Given the description of an element on the screen output the (x, y) to click on. 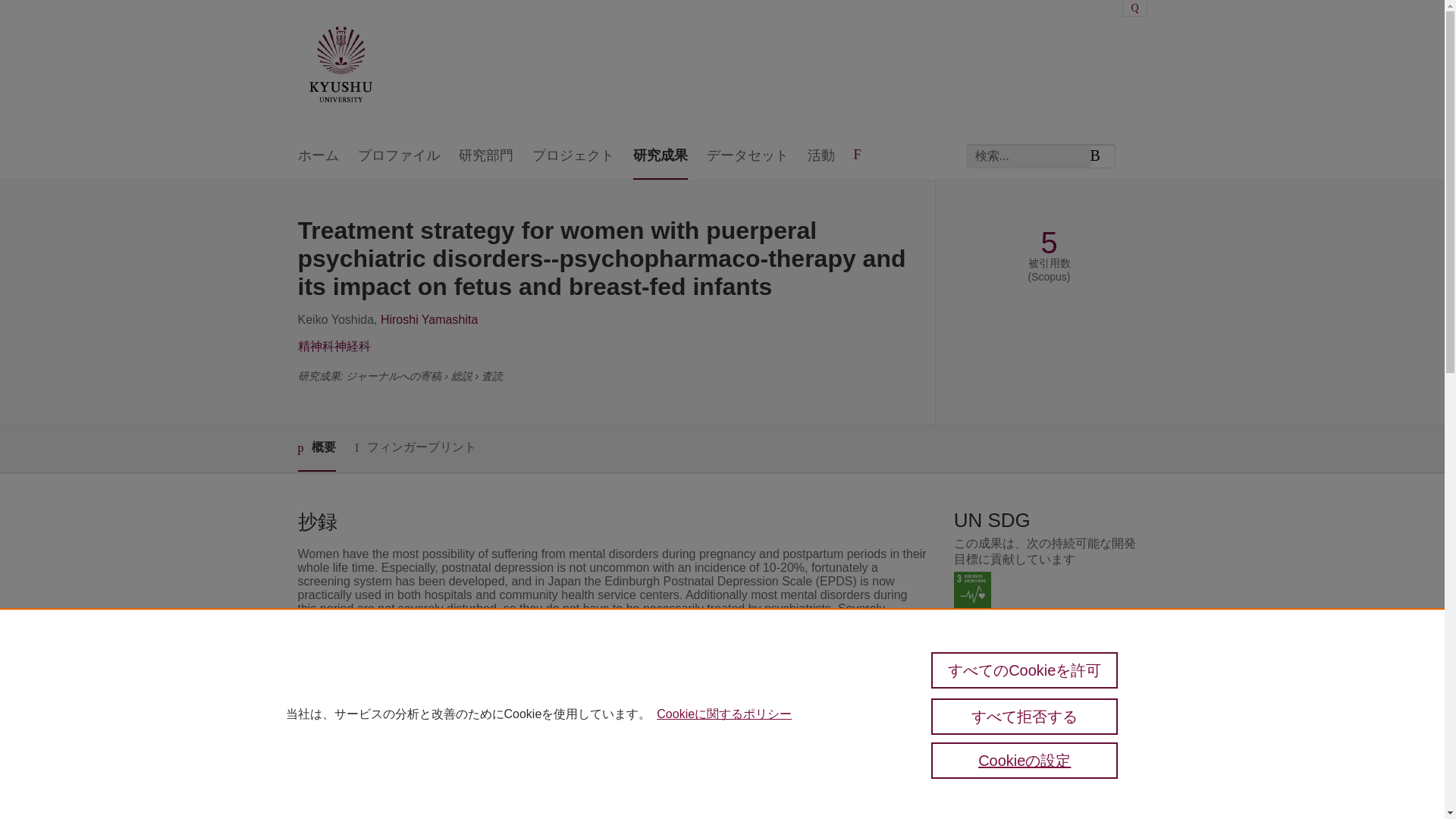
Hiroshi Yamashita (428, 318)
